Given the description of an element on the screen output the (x, y) to click on. 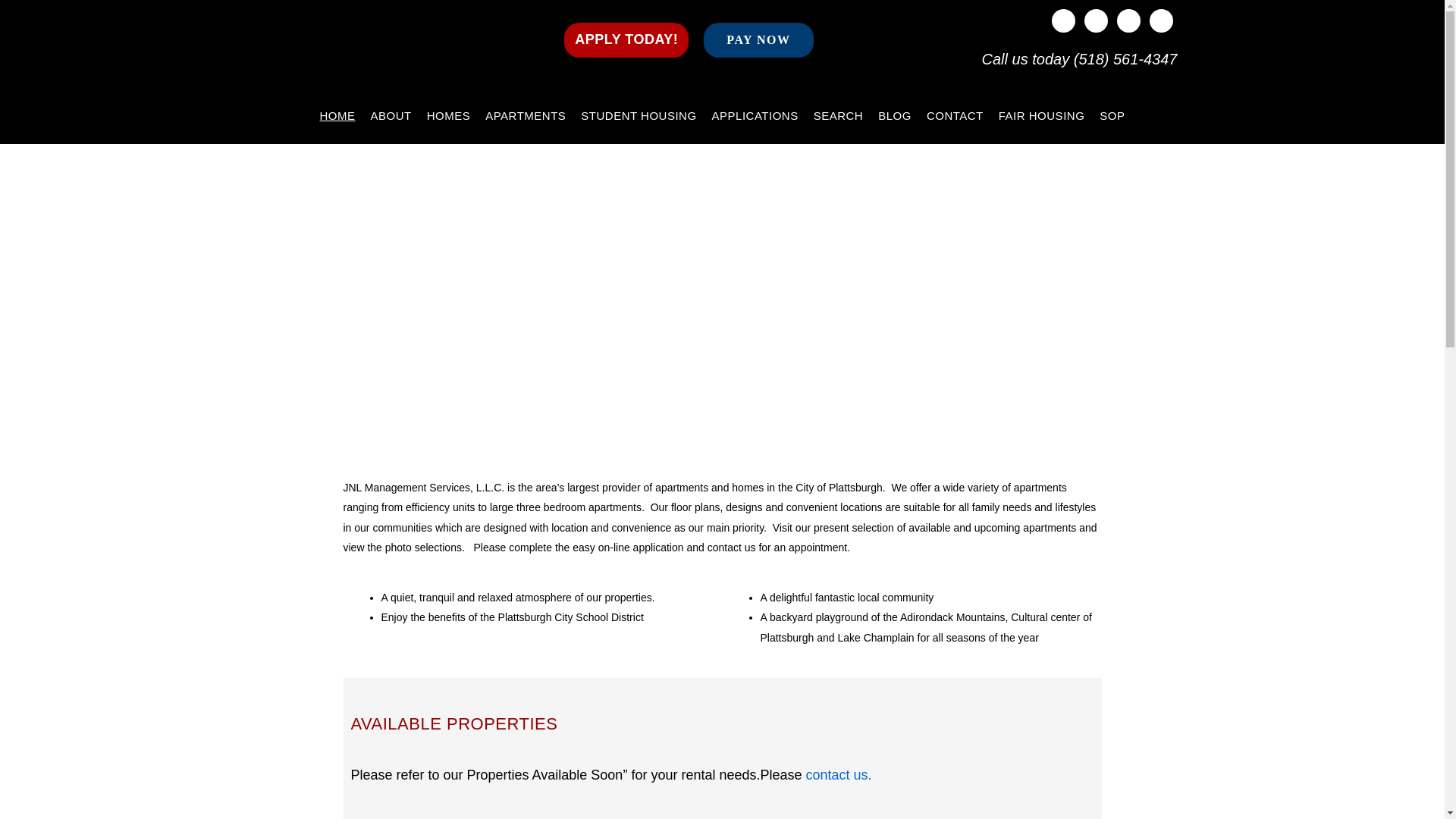
JNL MANAGEMENT SERVICES (403, 51)
contact us. (839, 774)
SEARCH (838, 115)
HOME (337, 115)
PAY NOW (757, 39)
APPLY TODAY! (626, 38)
SOP (1112, 115)
ABOUT (390, 115)
CONTACT (954, 115)
APPLICATIONS (755, 115)
